Given the description of an element on the screen output the (x, y) to click on. 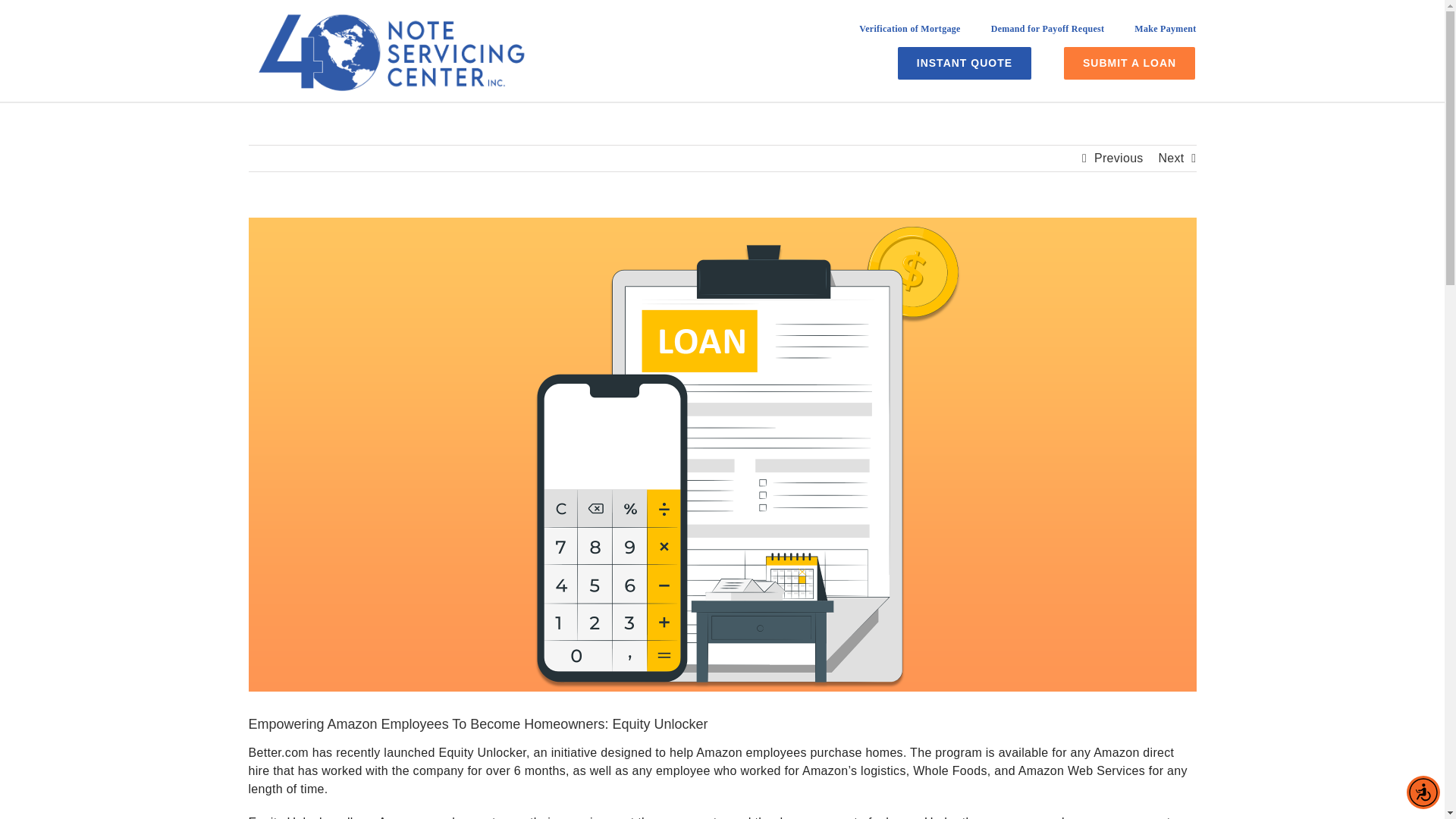
SUBMIT A LOAN (1129, 62)
Demand for Payoff Request (1048, 34)
Next (1170, 158)
Accessibility Menu (1422, 792)
INSTANT QUOTE (964, 62)
Make Payment (1164, 34)
Verification of Mortgage (909, 34)
Previous (1118, 158)
